Given the description of an element on the screen output the (x, y) to click on. 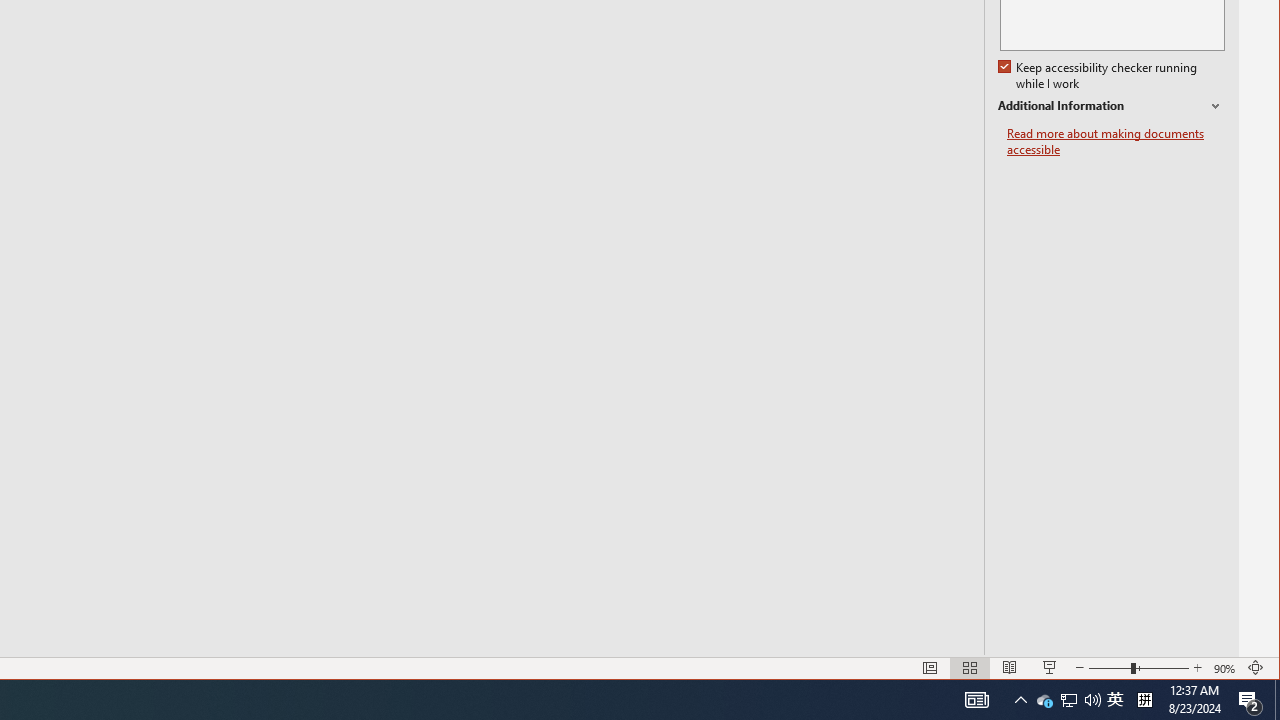
Zoom 90% (1044, 699)
